Given the description of an element on the screen output the (x, y) to click on. 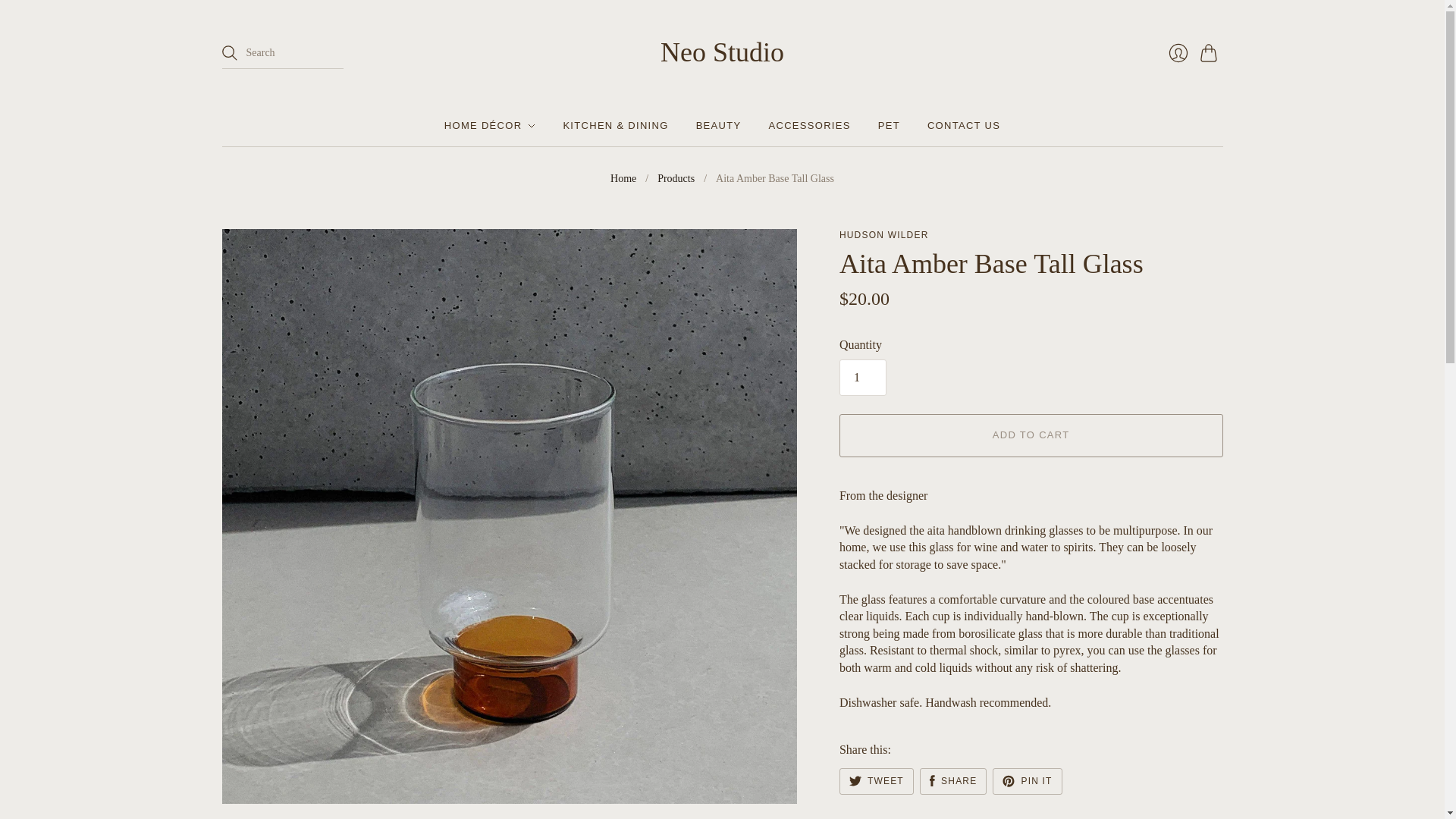
ACCESSORIES (809, 125)
Cart (1210, 52)
Neo Studio (722, 51)
ADD TO CART (1031, 435)
Home (623, 178)
Hudson Wilder (884, 235)
CONTACT US (963, 125)
HUDSON WILDER (884, 235)
Login (1177, 51)
1 (863, 377)
BEAUTY (718, 125)
Products (676, 178)
